Given the description of an element on the screen output the (x, y) to click on. 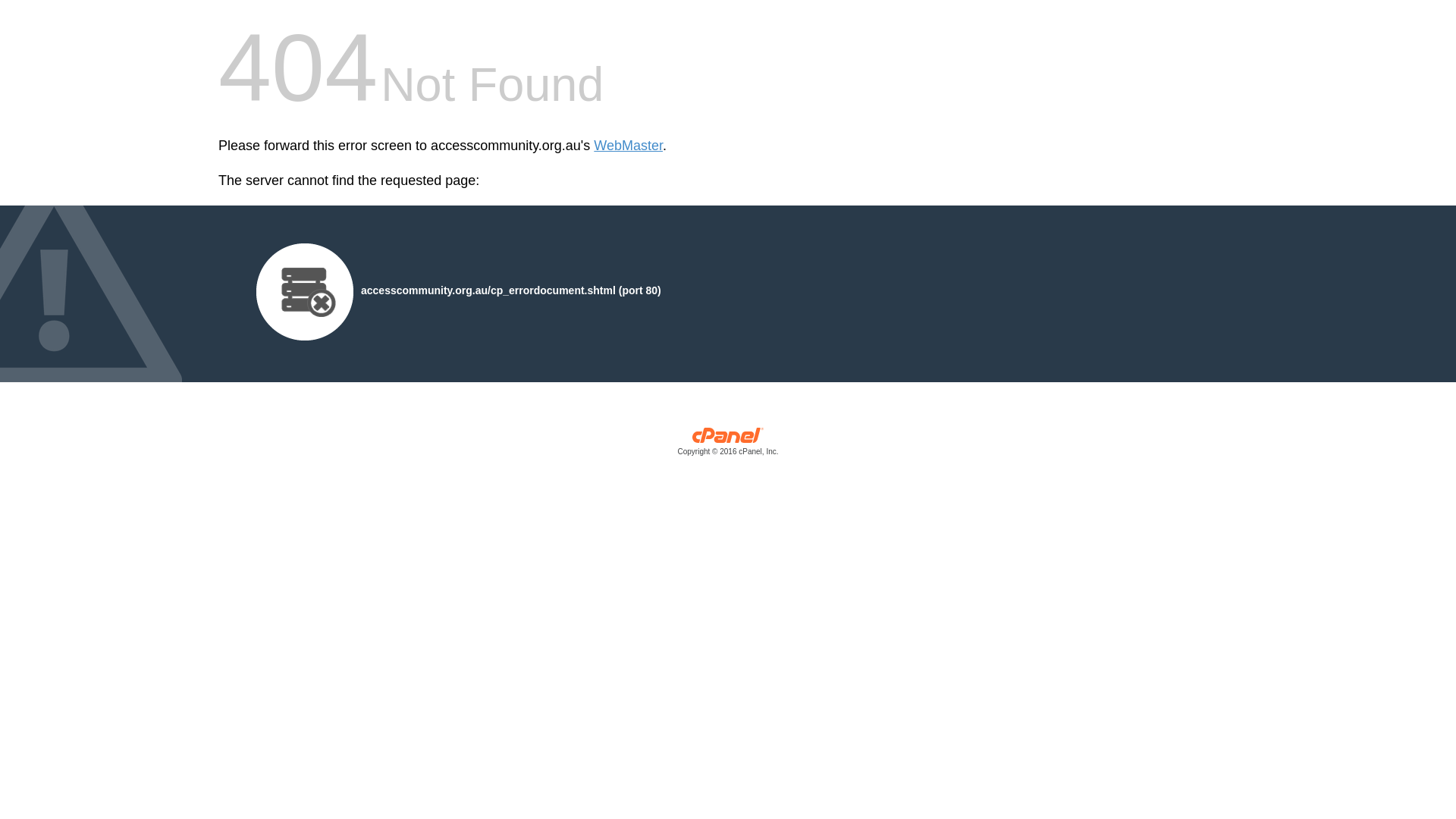
WebMaster Element type: text (627, 145)
